Given the description of an element on the screen output the (x, y) to click on. 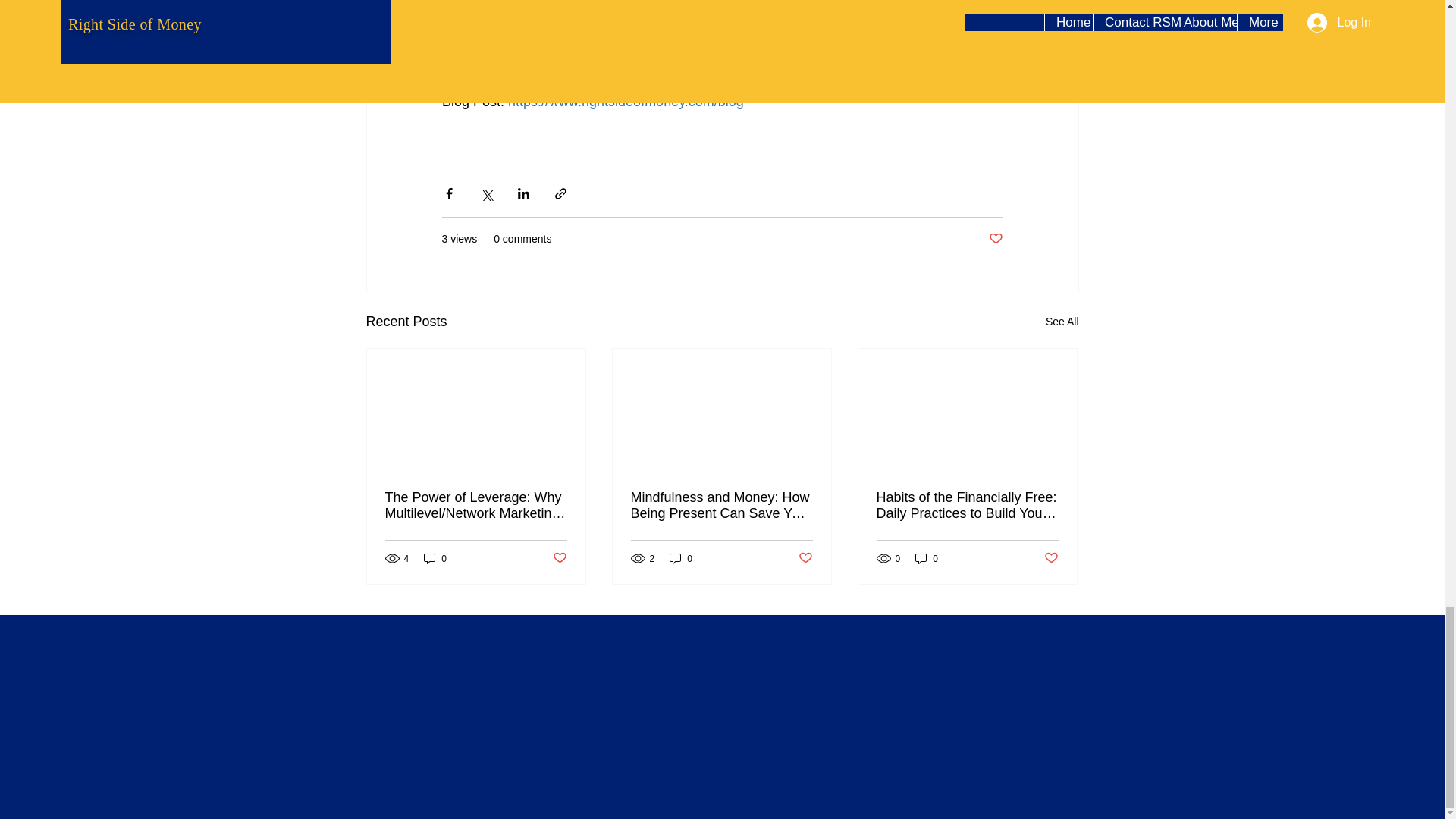
Mindfulness and Money: How Being Present Can Save You More (721, 505)
Post not marked as liked (995, 238)
See All (1061, 321)
Post not marked as liked (804, 558)
0 (435, 558)
0 (681, 558)
Post not marked as liked (558, 558)
